Given the description of an element on the screen output the (x, y) to click on. 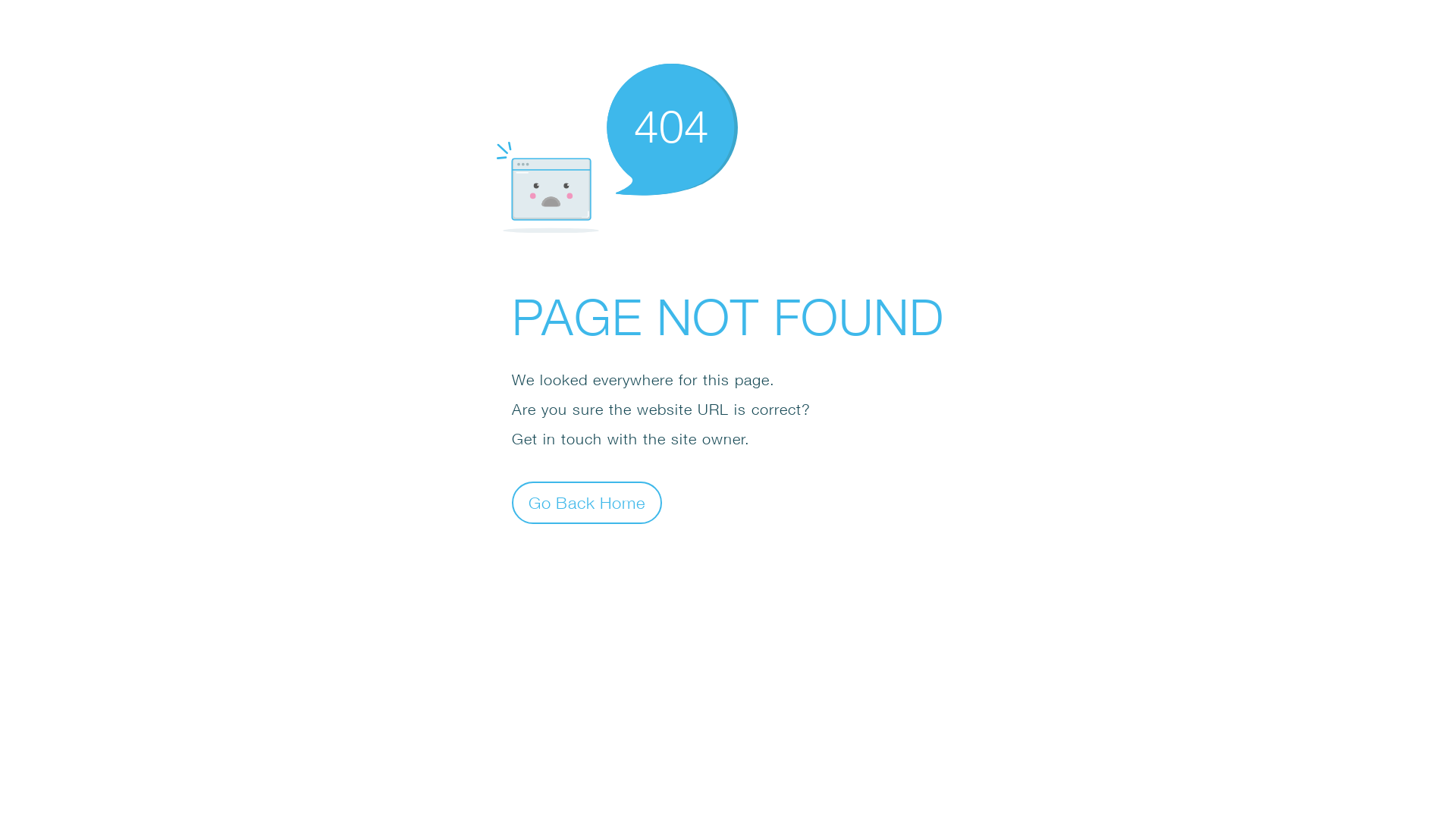
Go Back Home Element type: text (586, 502)
